Given the description of an element on the screen output the (x, y) to click on. 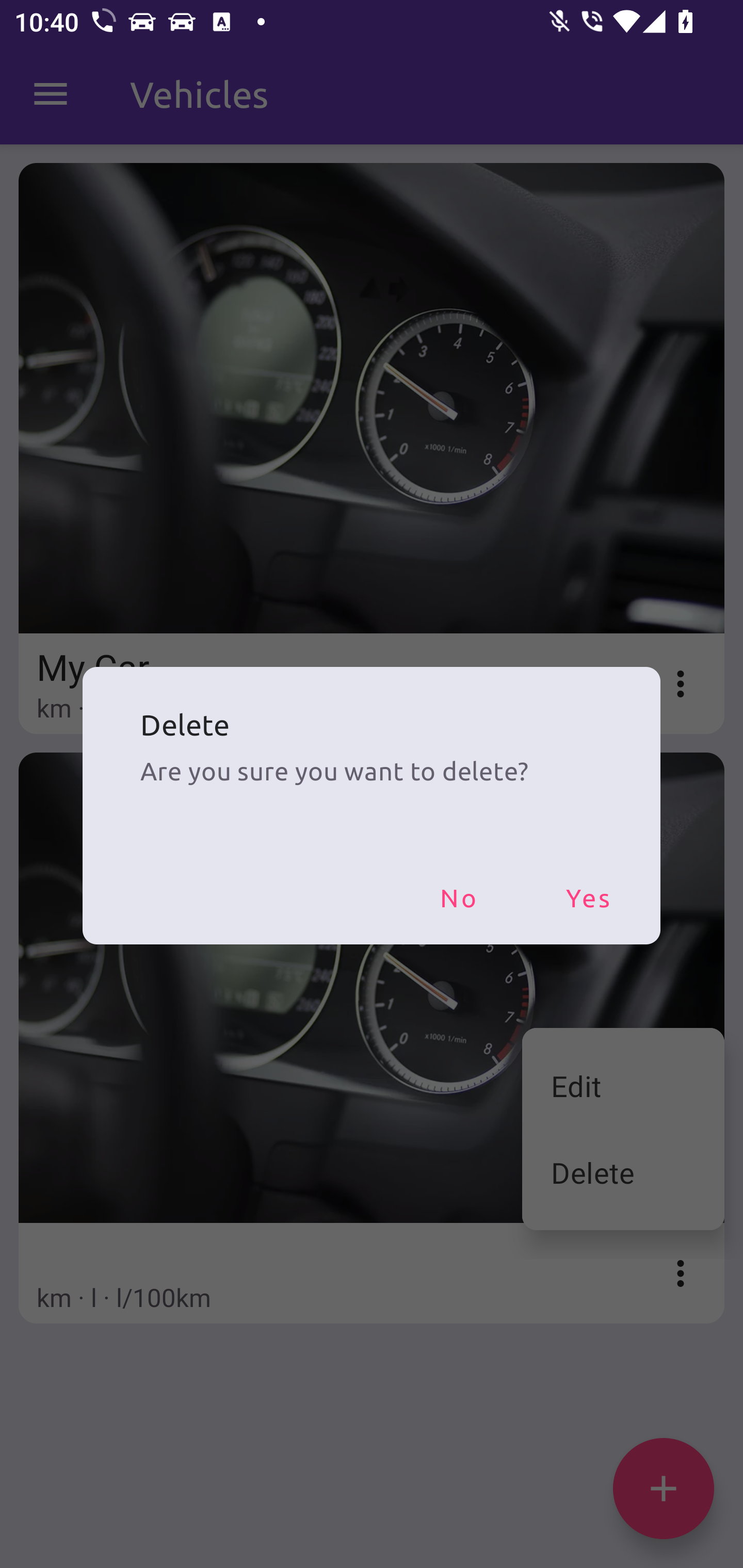
No (457, 897)
Yes (587, 897)
